Given the description of an element on the screen output the (x, y) to click on. 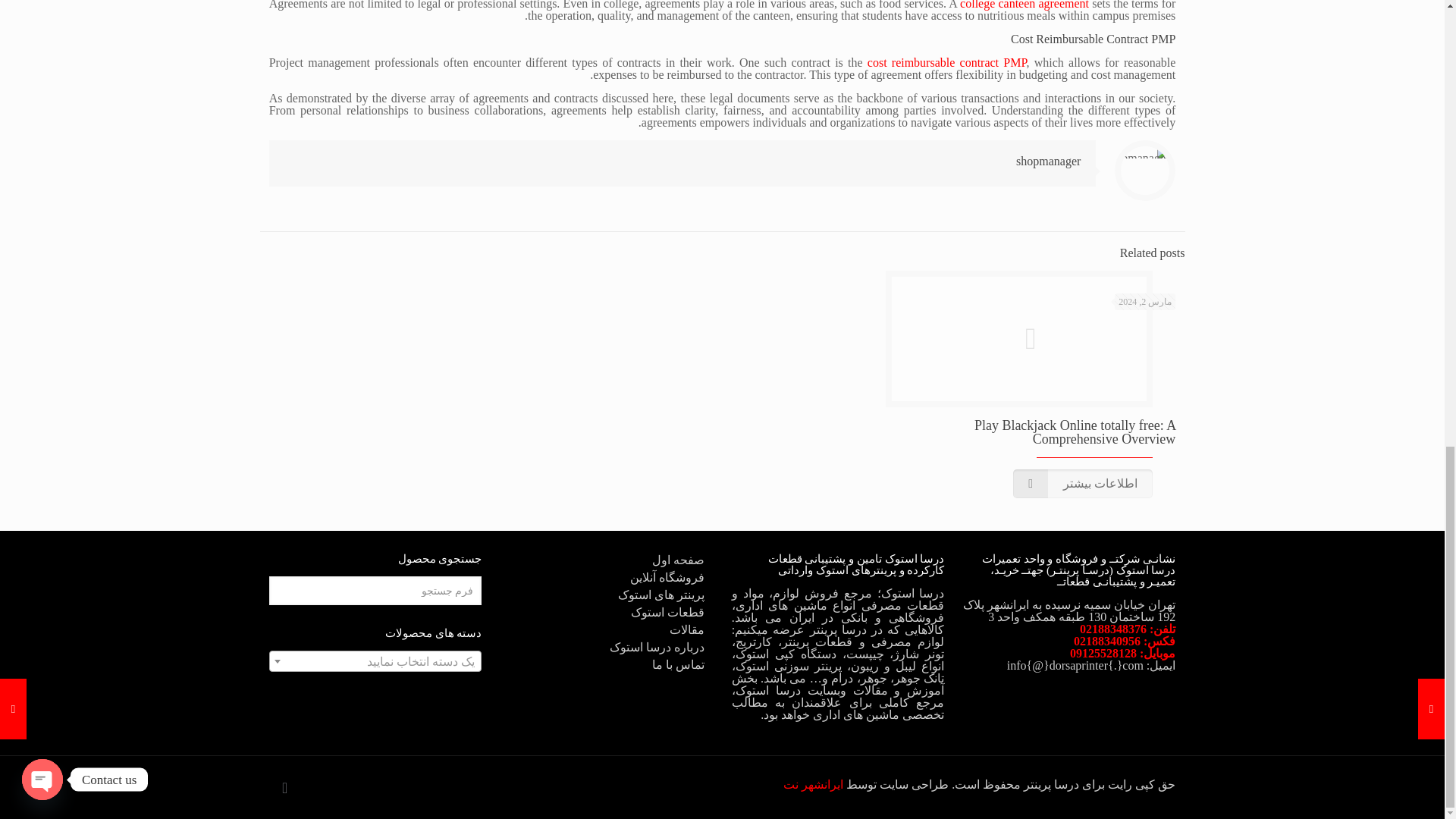
shopmanager (1048, 160)
cost reimbursable contract PMP (946, 62)
Play Blackjack Online totally free: A Comprehensive Overview (1074, 431)
college canteen agreement (1024, 4)
